Given the description of an element on the screen output the (x, y) to click on. 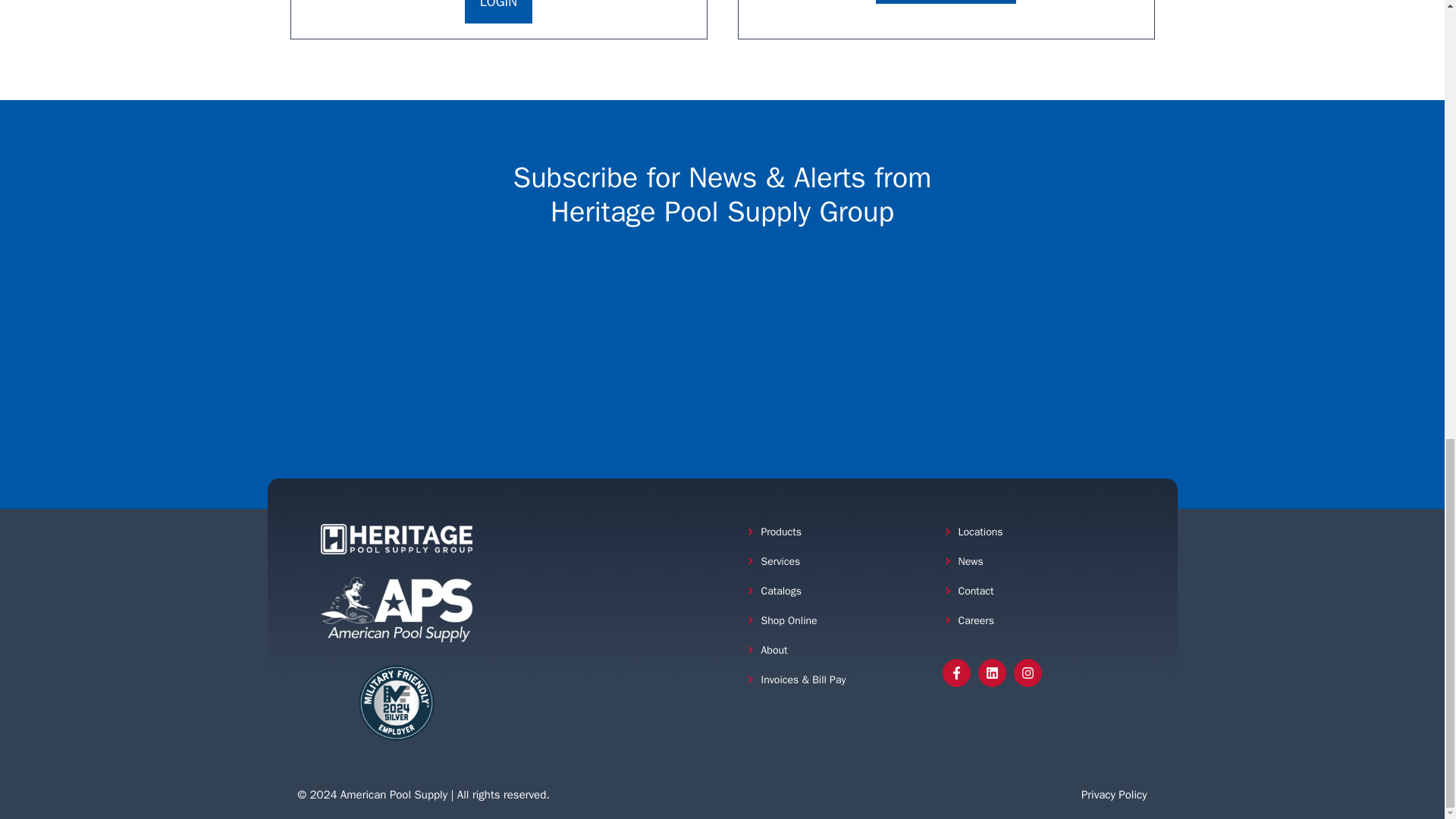
Catalogs (781, 590)
Products (781, 531)
INVOICE GATEWAY (946, 2)
Careers (976, 620)
LOGIN (498, 11)
Contact (976, 590)
News (971, 561)
About (774, 649)
Form 0 (721, 345)
Services (780, 561)
Locations (980, 531)
Shop Online (788, 620)
